Given the description of an element on the screen output the (x, y) to click on. 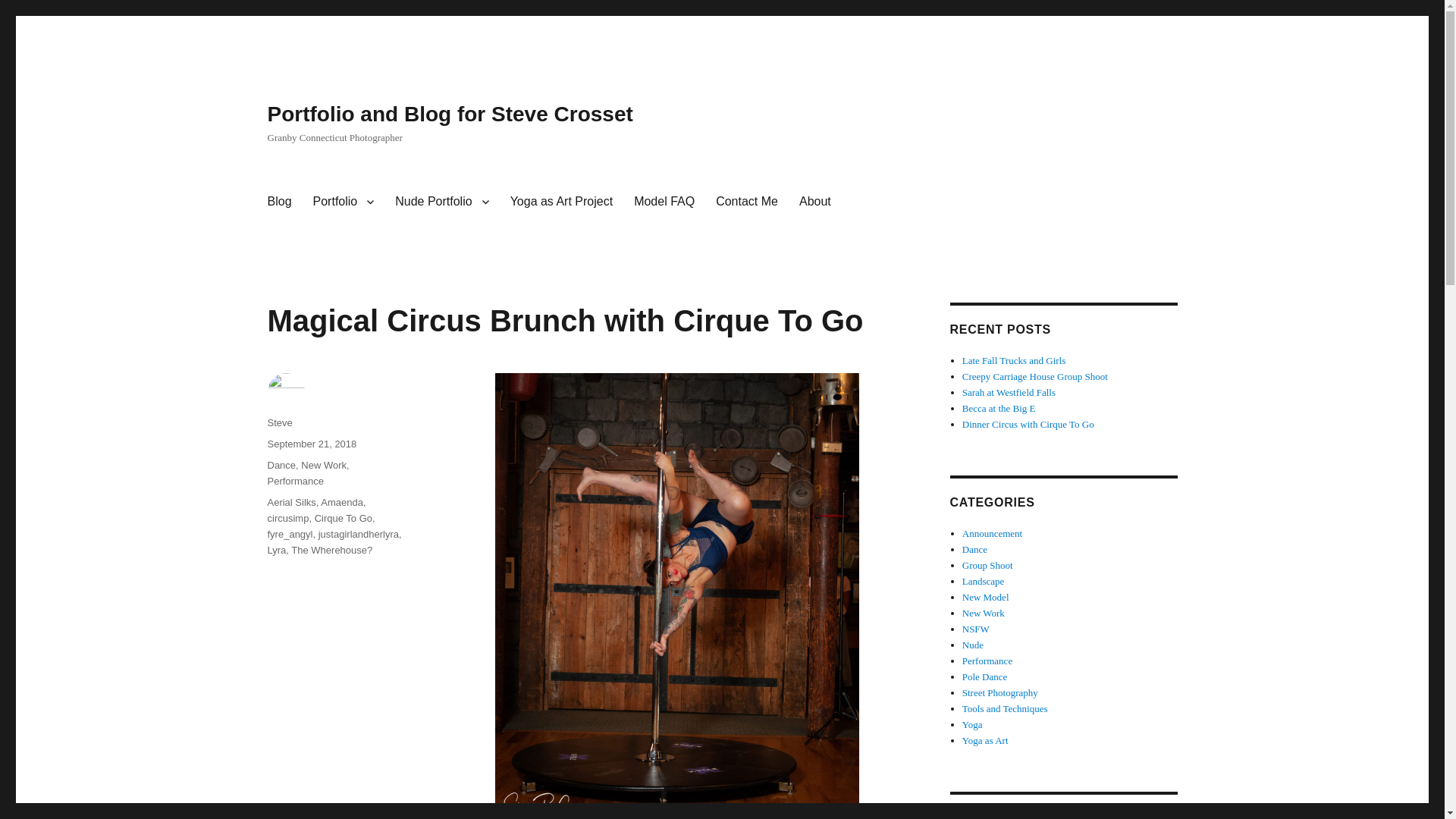
About (815, 201)
Nude Portfolio (441, 201)
Dance (280, 464)
Portfolio (343, 201)
Yoga as Art Project (561, 201)
Steve (279, 422)
September 21, 2018 (311, 443)
Blog (278, 201)
Contact Me (746, 201)
Portfolio and Blog for Steve Crosset (448, 114)
Model FAQ (663, 201)
